Given the description of an element on the screen output the (x, y) to click on. 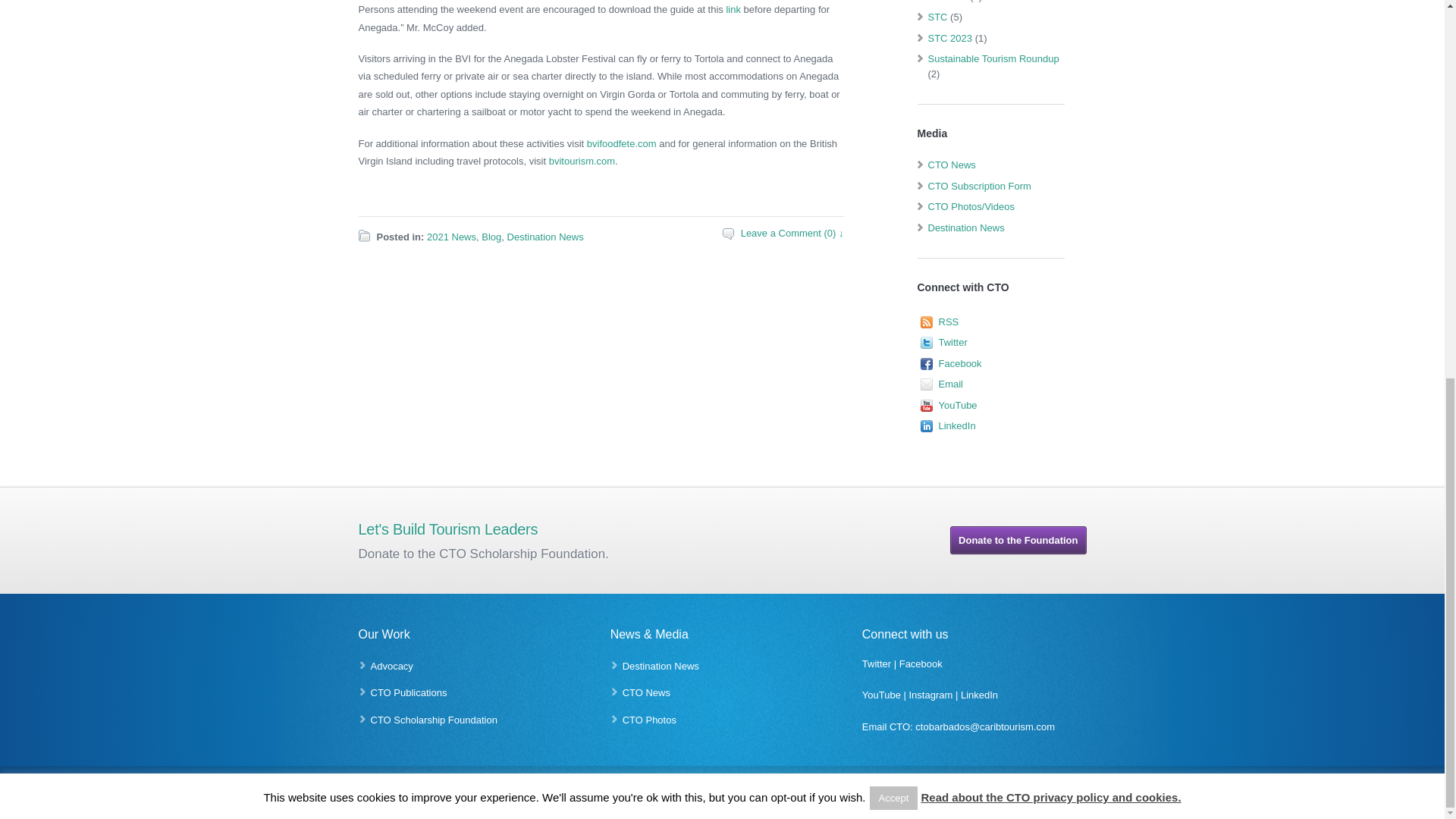
CTO News (646, 692)
CTO Photos (650, 719)
CTO Publications (407, 692)
CTO Scholarship Foundation (432, 719)
Advocacy (390, 665)
Destination News (660, 665)
